Given the description of an element on the screen output the (x, y) to click on. 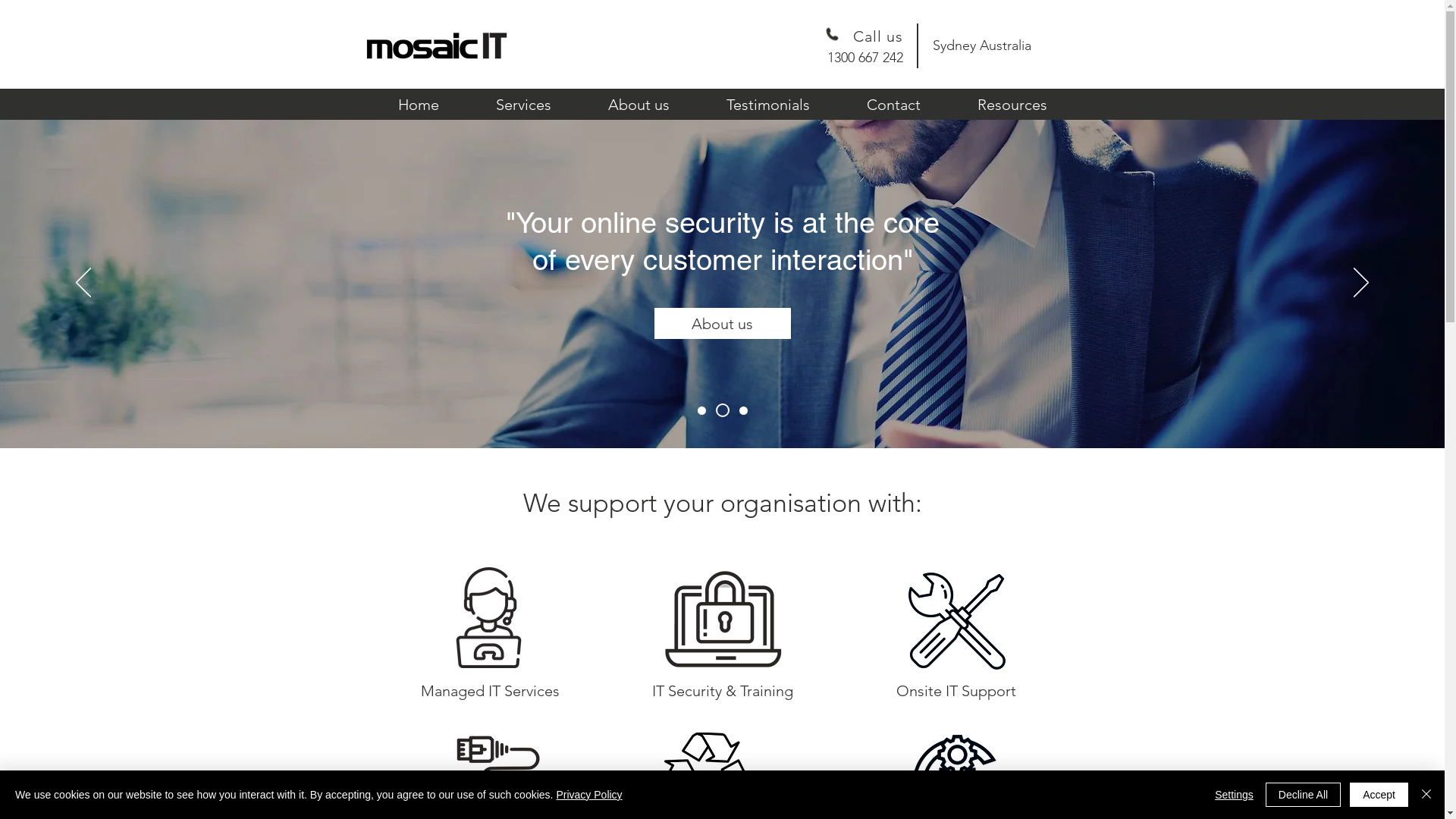
About us Element type: text (721, 322)
Onsite IT Support Element type: text (955, 690)
Testimonials Element type: text (767, 104)
Privacy Policy Element type: text (588, 794)
Decline All Element type: text (1302, 794)
Home Element type: text (418, 104)
Resources Element type: text (1012, 104)
Managed IT Services Element type: text (490, 690)
Click here for Home page Element type: hover (435, 45)
IT Security & Training Element type: text (722, 690)
Services Element type: text (523, 104)
About us Element type: text (638, 104)
Contact Element type: text (893, 104)
Accept Element type: text (1378, 794)
